Given the description of an element on the screen output the (x, y) to click on. 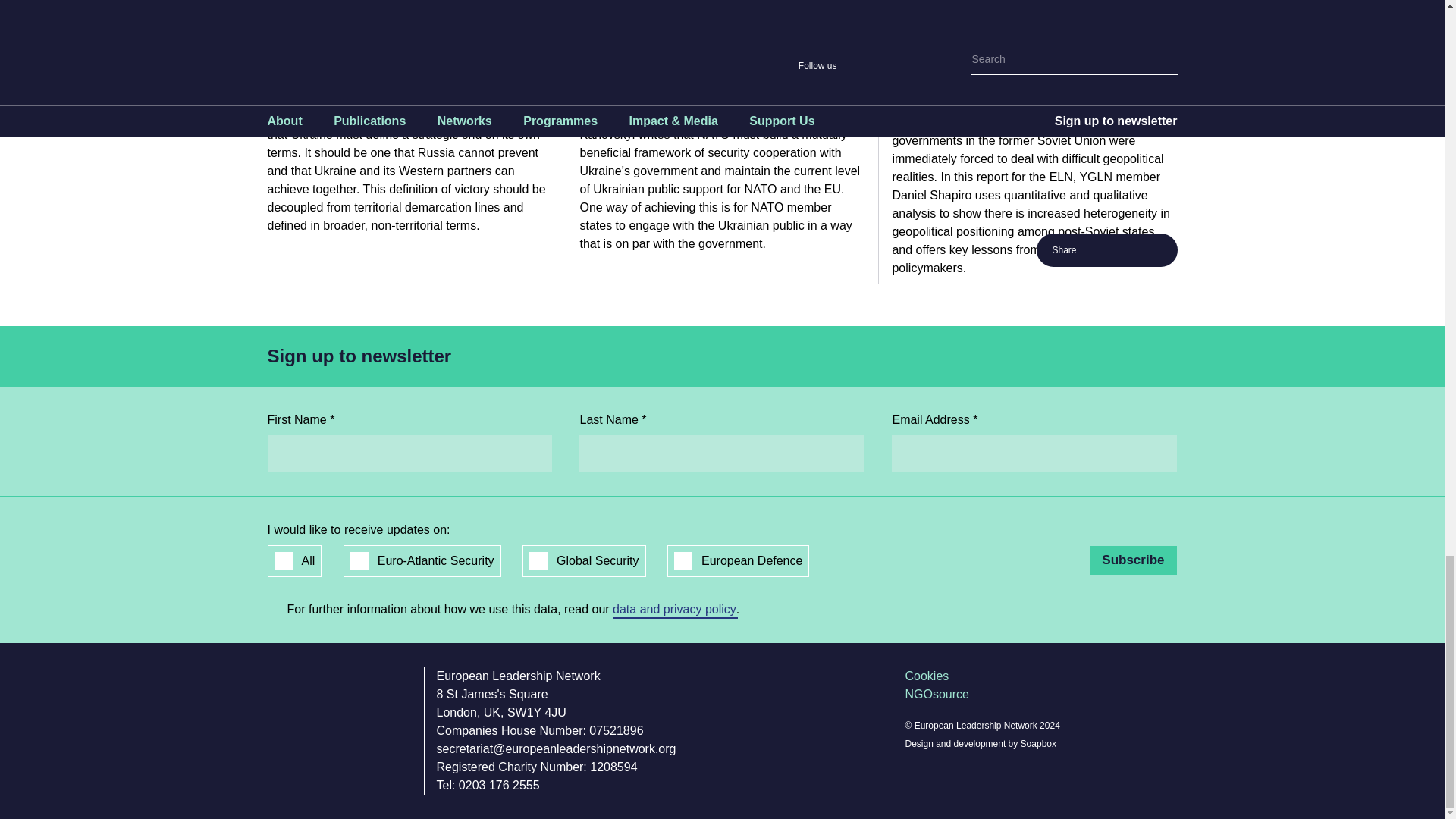
Subscribe (1132, 560)
